Given the description of an element on the screen output the (x, y) to click on. 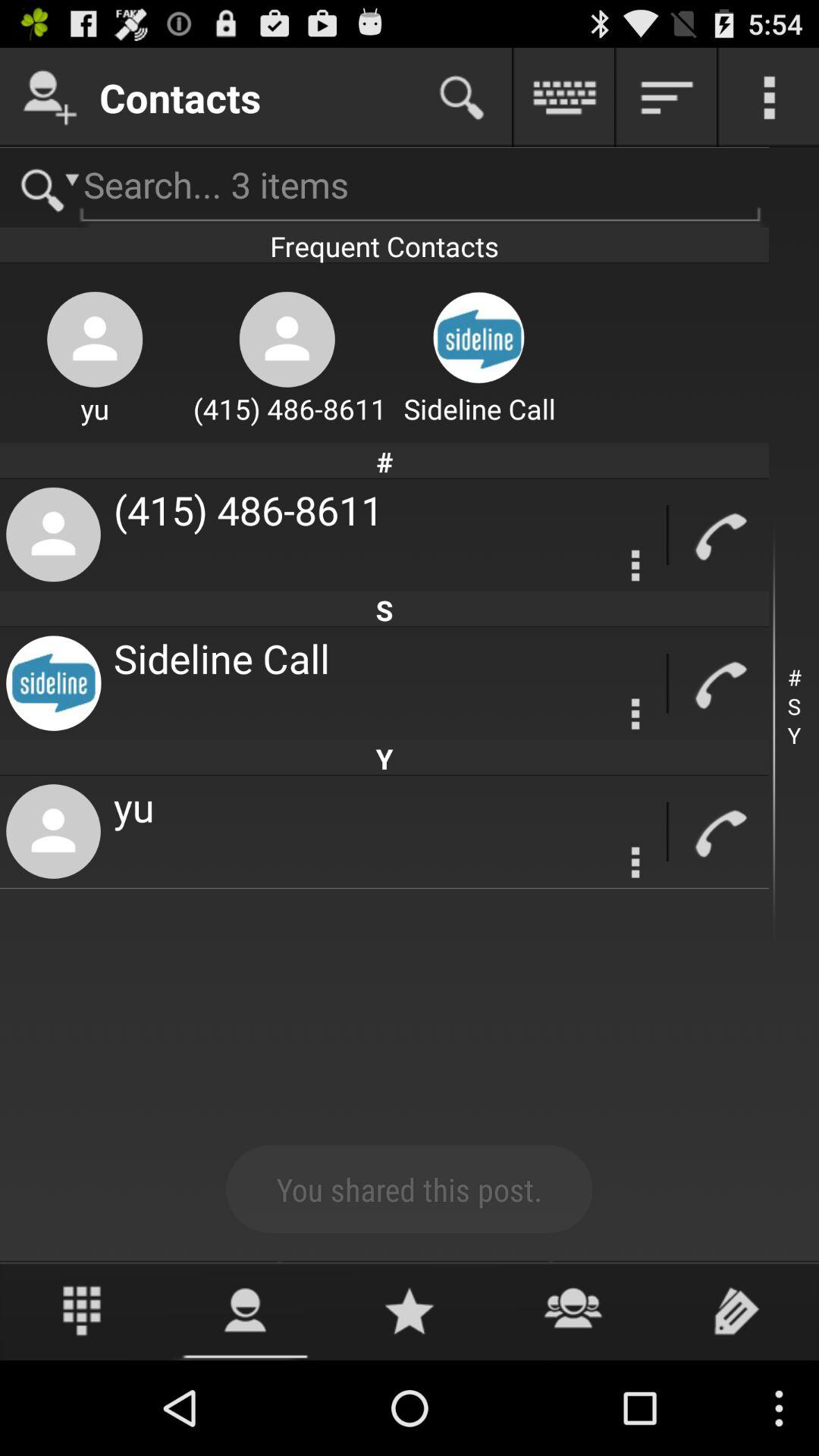
select button (666, 97)
